Given the description of an element on the screen output the (x, y) to click on. 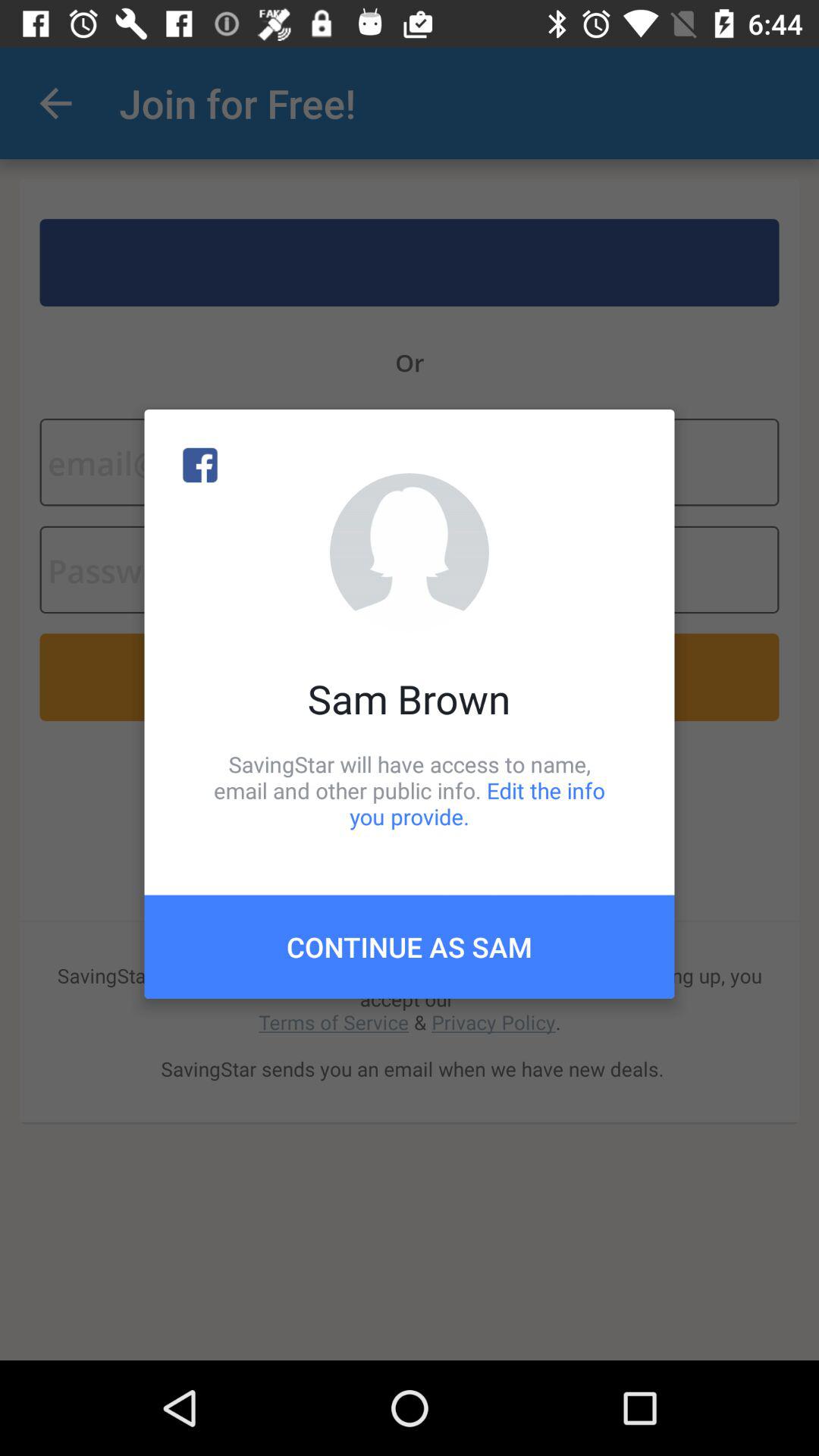
launch continue as sam icon (409, 946)
